Given the description of an element on the screen output the (x, y) to click on. 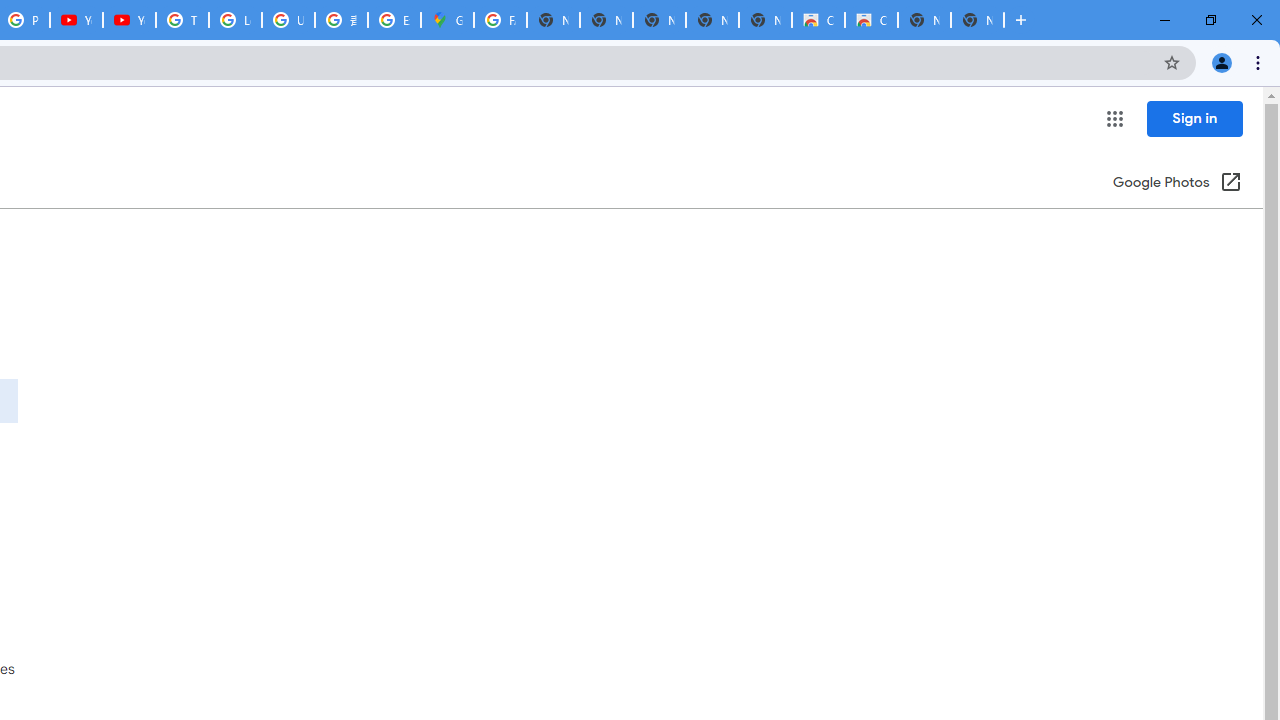
New Tab (977, 20)
Classic Blue - Chrome Web Store (818, 20)
YouTube (76, 20)
Explore new street-level details - Google Maps Help (394, 20)
Tips & tricks for Chrome - Google Chrome Help (182, 20)
Google Photos (Open in a new window) (1177, 183)
Google Maps (447, 20)
